Given the description of an element on the screen output the (x, y) to click on. 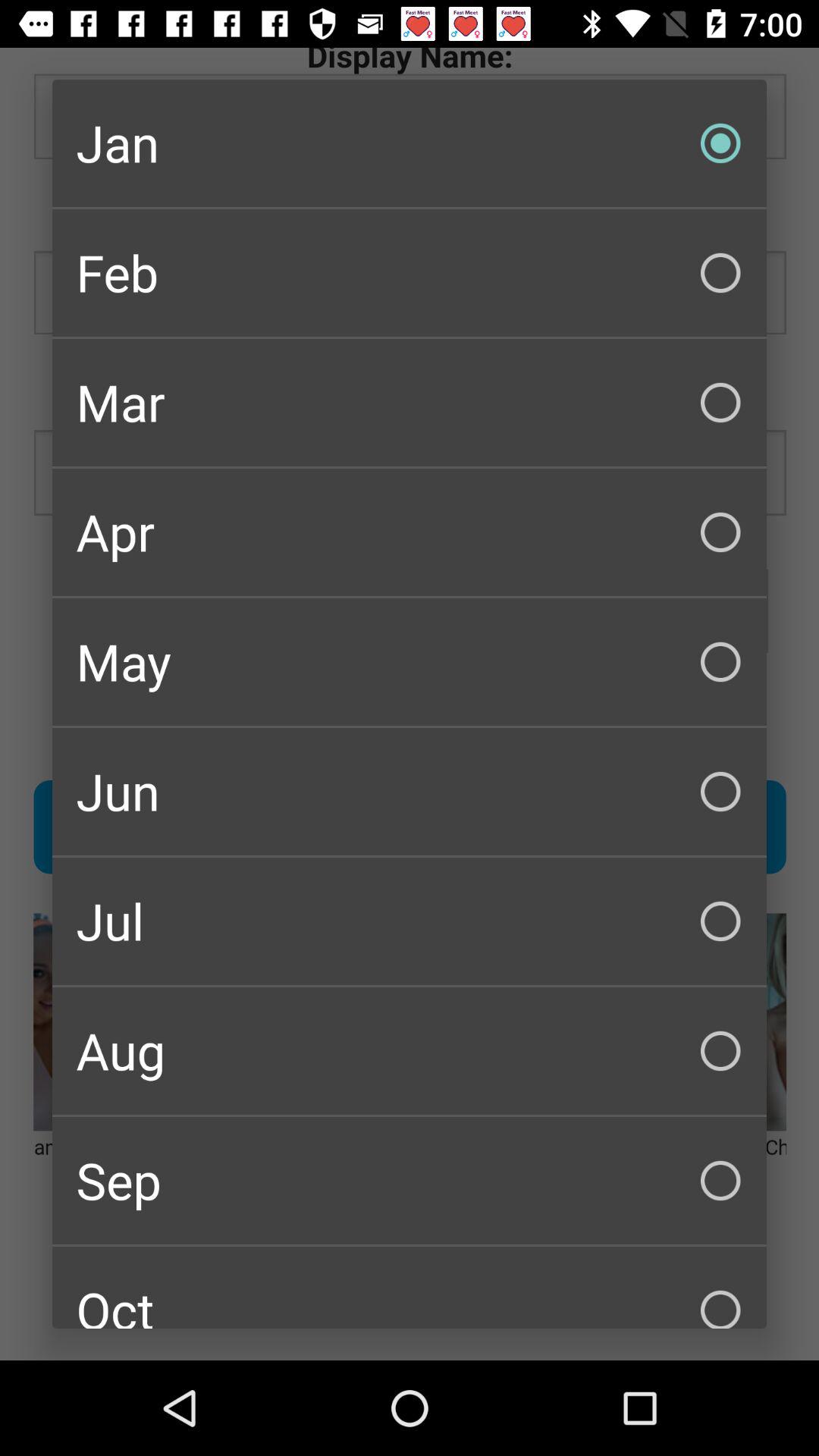
launch the item above the may item (409, 532)
